Given the description of an element on the screen output the (x, y) to click on. 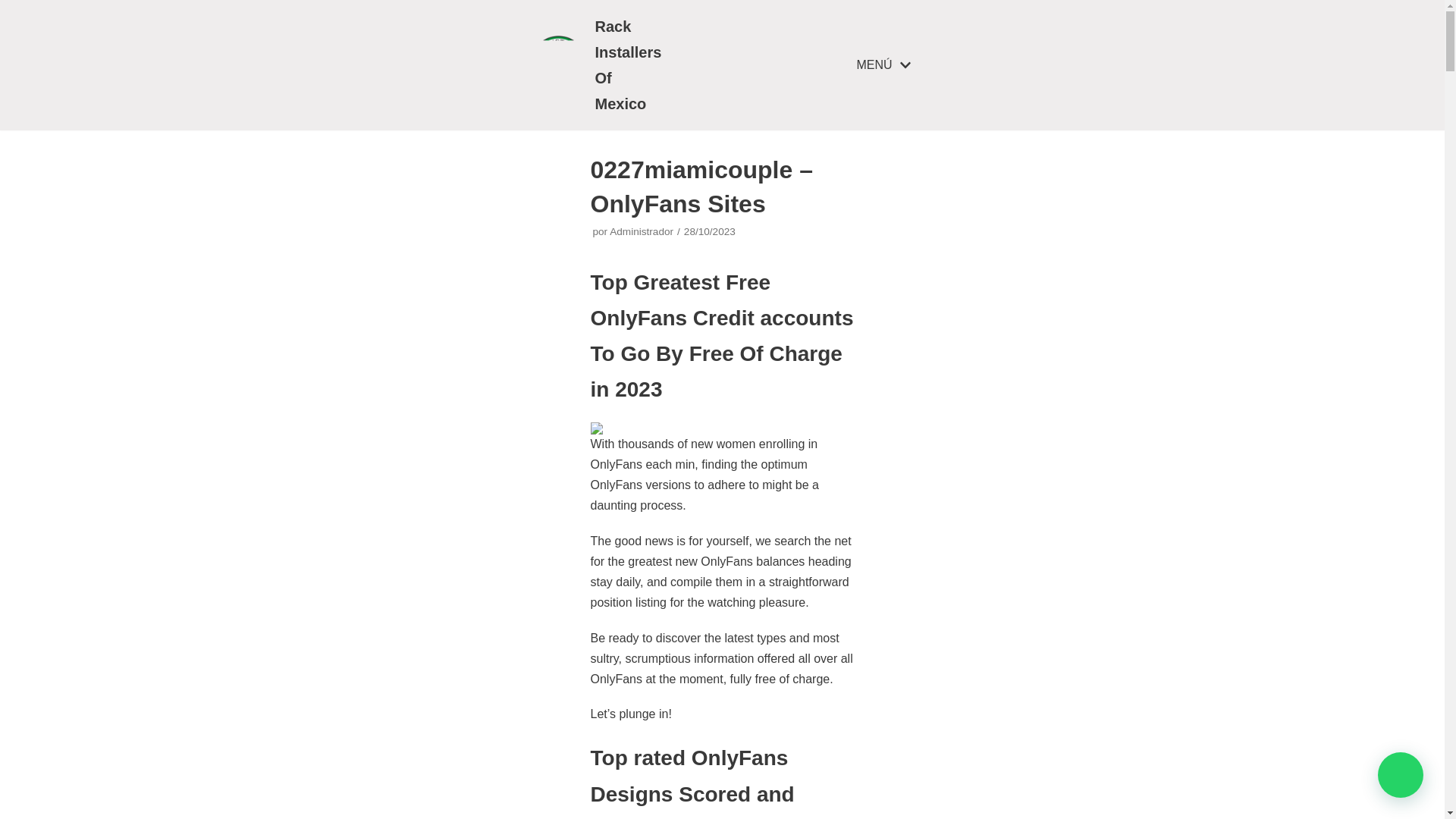
Rack Installers Of Mexico (595, 65)
Administrador (641, 231)
Rack Installers Of Mexico (595, 65)
Entradas de Administrador (641, 231)
Saltar al contenido (15, 31)
